Given the description of an element on the screen output the (x, y) to click on. 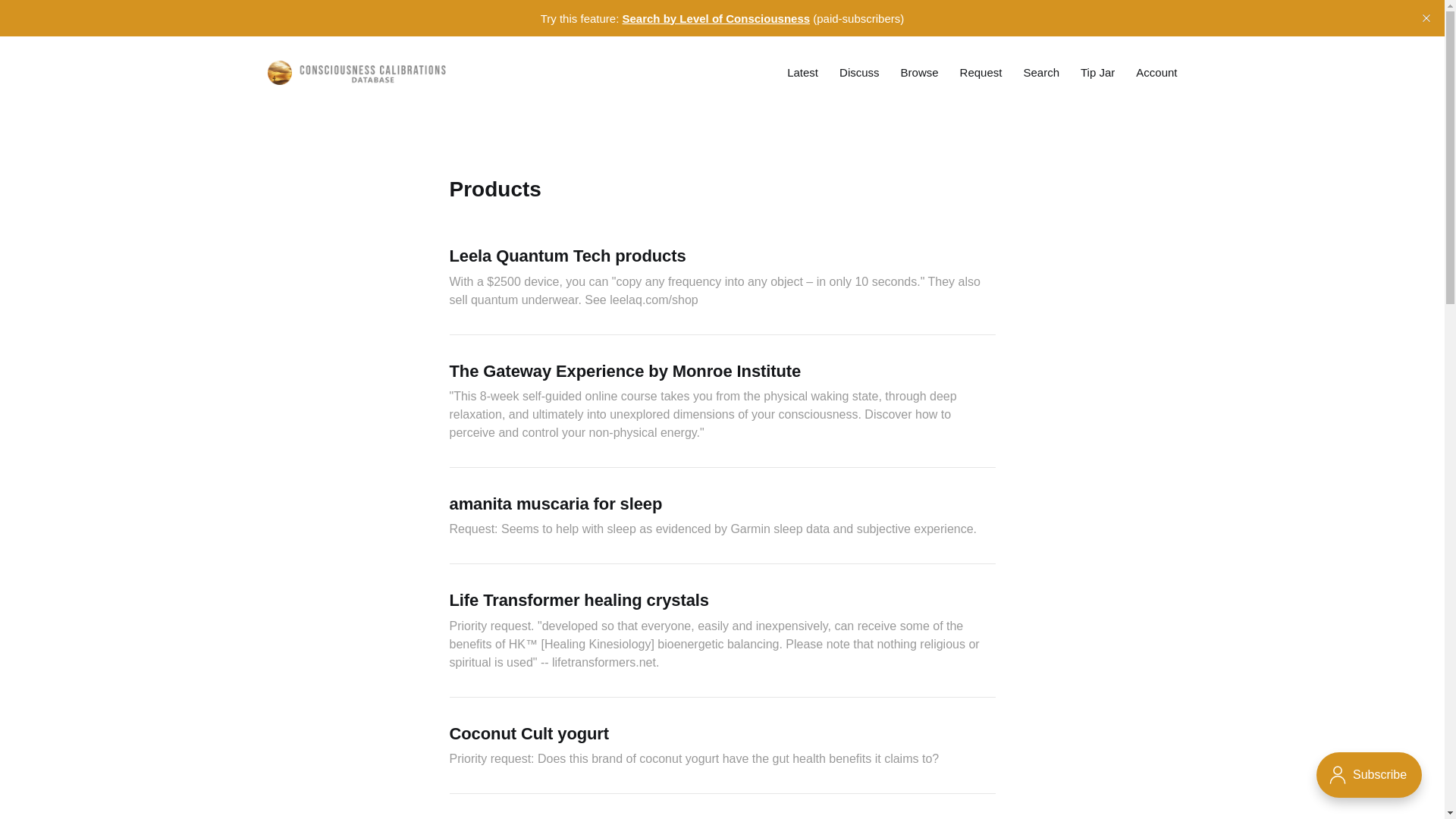
Search (1041, 72)
Account (1155, 72)
Search by Level of Consciousness (715, 18)
Request (981, 72)
Discuss (859, 72)
Latest (802, 72)
Browse (920, 72)
Tip Jar (1097, 72)
